Given the description of an element on the screen output the (x, y) to click on. 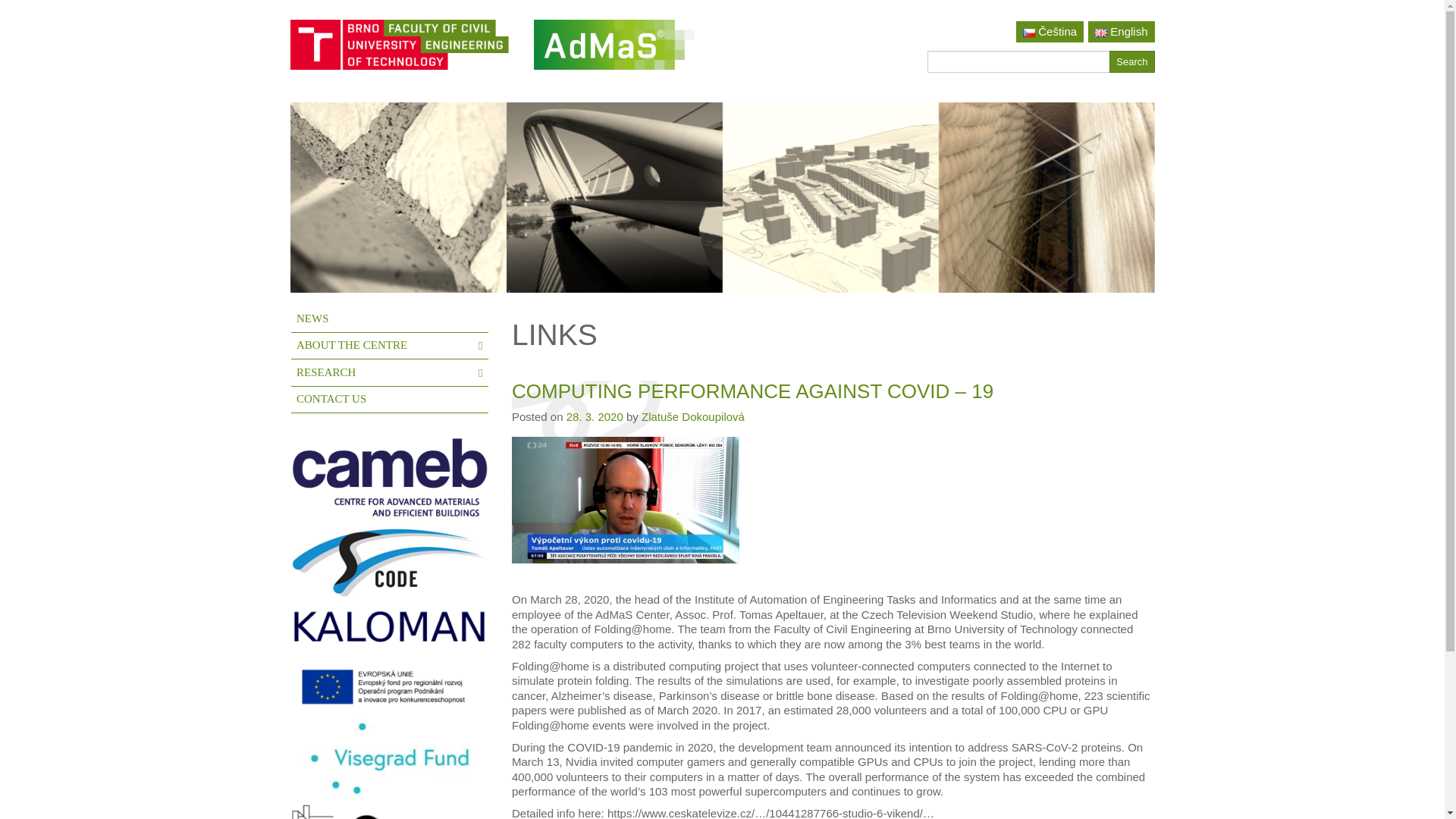
13:48 (594, 416)
CONTACT US (390, 400)
AdMaS (614, 51)
Search for: (1017, 61)
Search (1131, 61)
English (1121, 31)
RESEARCH (390, 372)
28. 3. 2020 (594, 416)
NEWS (390, 318)
ABOUT THE CENTRE (390, 346)
